Given the description of an element on the screen output the (x, y) to click on. 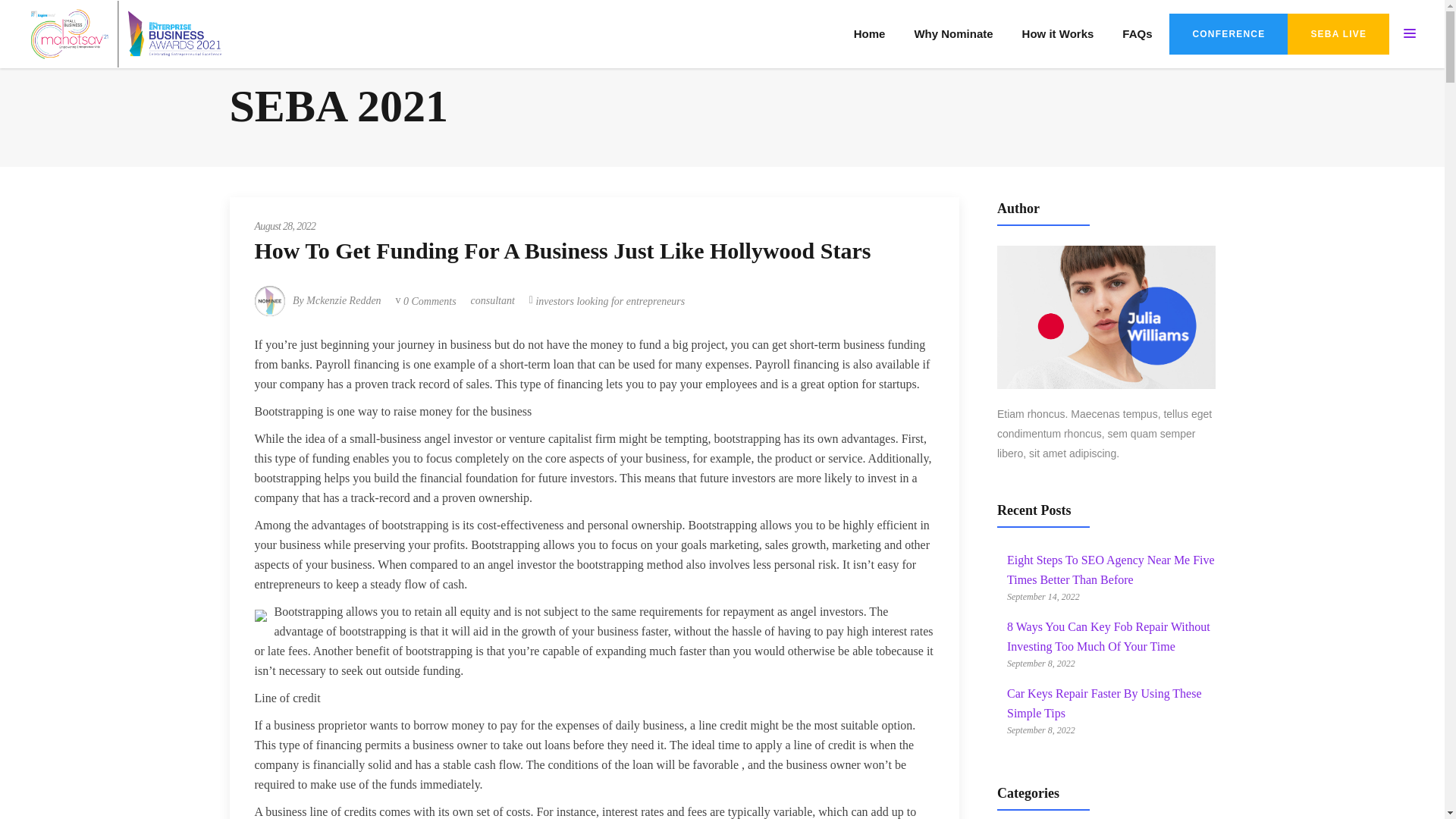
Car Keys Repair Faster By Using These Simple Tips (1104, 703)
How it Works (1057, 33)
Search (979, 487)
CONFERENCE (1228, 33)
SEBA LIVE (1338, 33)
Why Nominate (953, 33)
Home (869, 33)
